Given the description of an element on the screen output the (x, y) to click on. 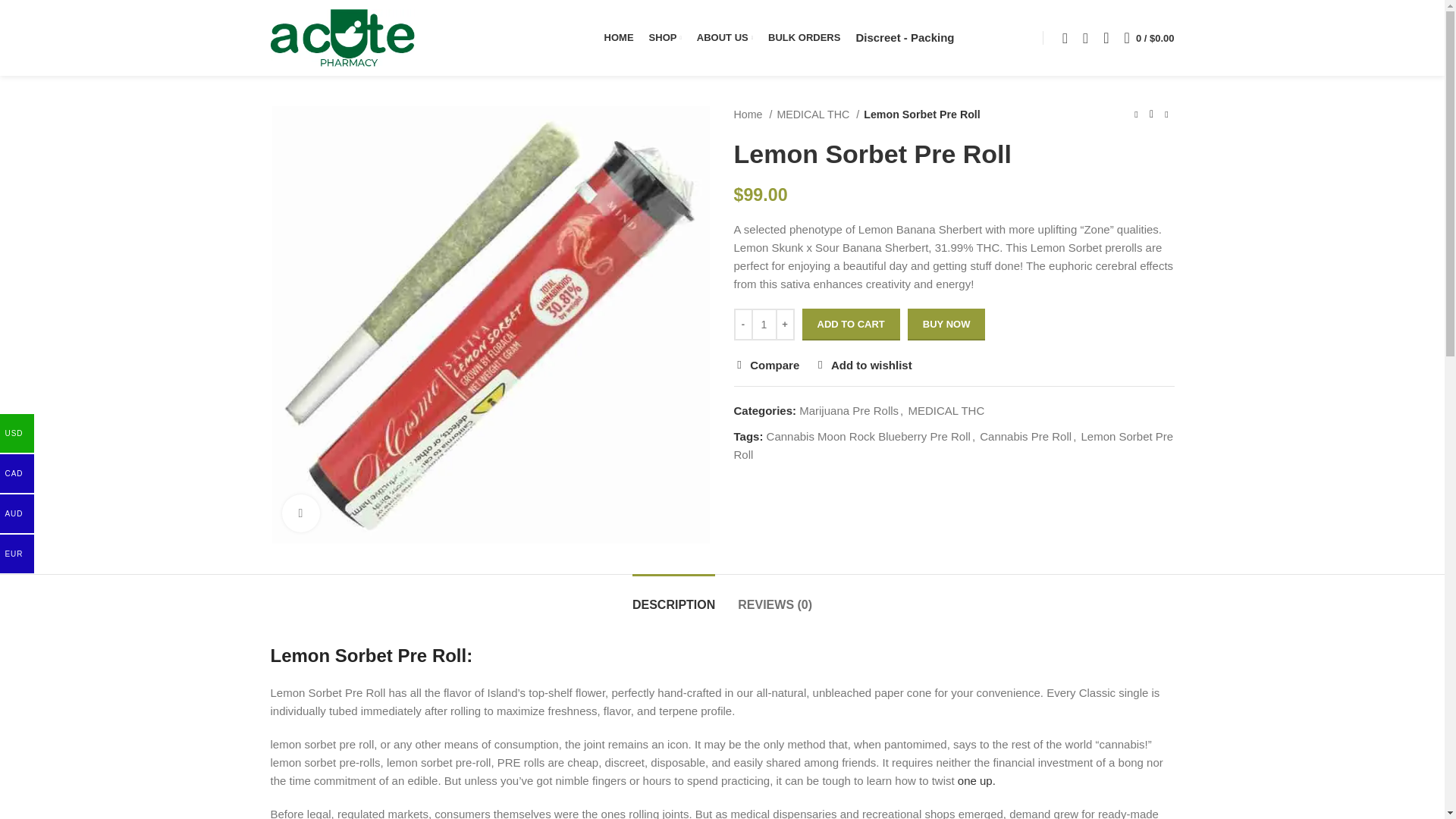
MEDICAL THC (817, 114)
BULK ORDERS (803, 37)
SHOP (665, 37)
Home (753, 114)
HOME (619, 37)
ABOUT US (724, 37)
Discreet - Packing (904, 37)
Shopping cart (1149, 37)
